Given the description of an element on the screen output the (x, y) to click on. 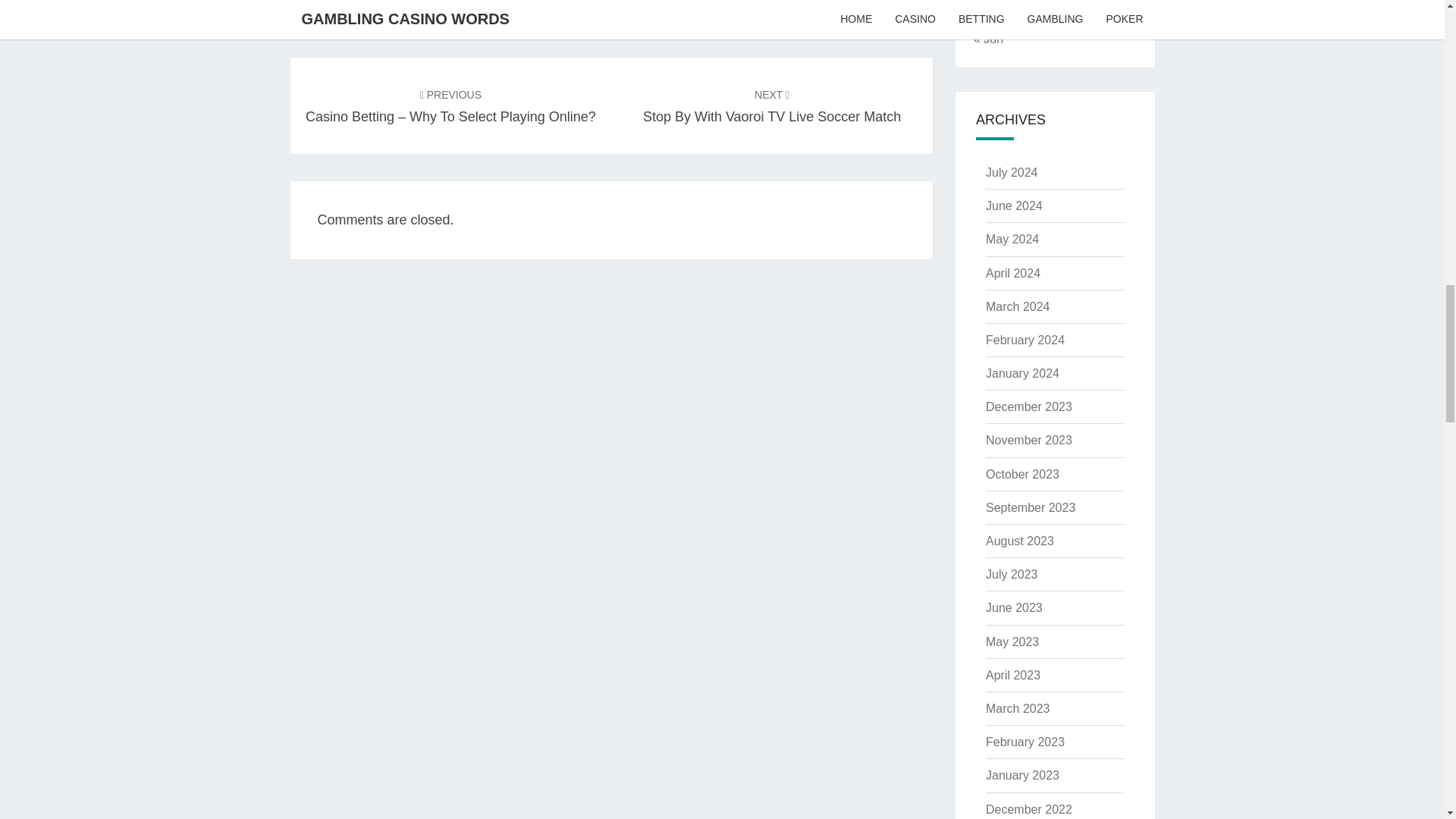
October 2023 (1022, 473)
January 2024 (1022, 373)
September 2023 (1030, 507)
August 2023 (1019, 540)
June 2024 (1013, 205)
May 2024 (772, 105)
February 2024 (1012, 238)
July 2024 (1024, 339)
November 2023 (1011, 172)
December 2023 (1028, 440)
April 2024 (1028, 406)
March 2024 (1013, 273)
